Given the description of an element on the screen output the (x, y) to click on. 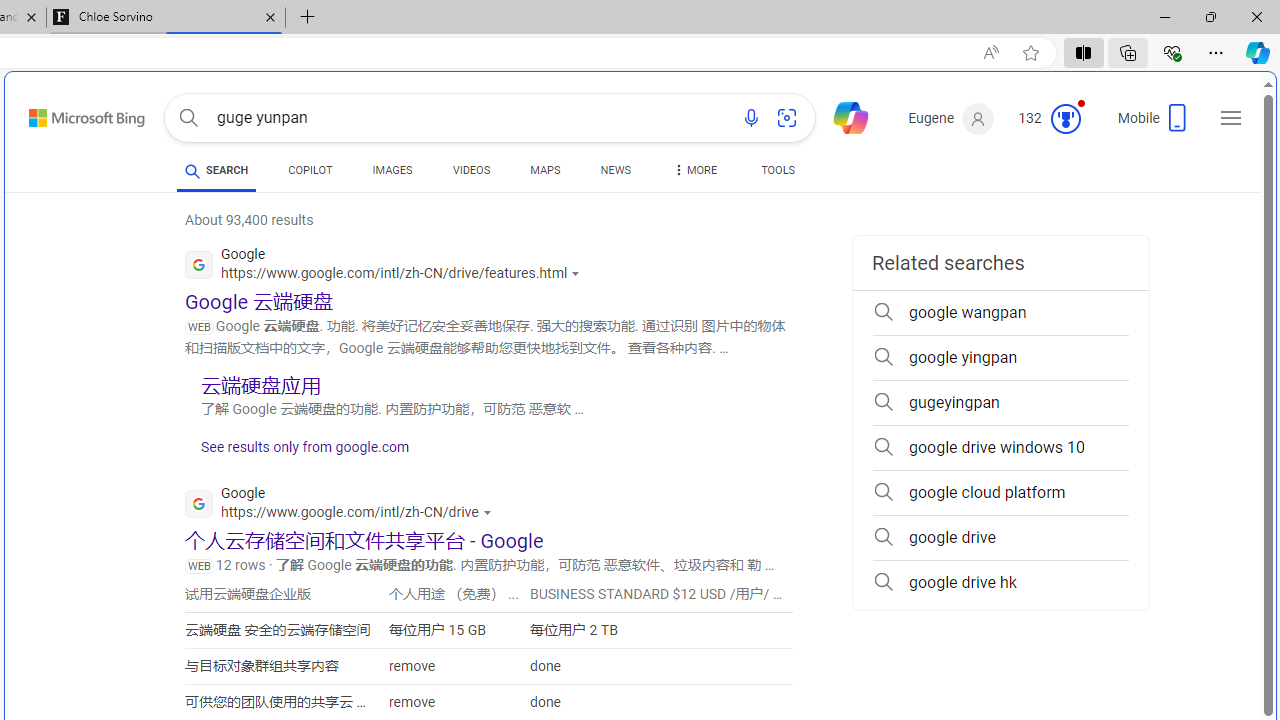
Chloe Sorvino (166, 17)
Minimize (1164, 16)
Settings and quick links (1231, 117)
Skip to content (65, 111)
VIDEOS (471, 173)
COPILOT (310, 170)
IMAGES (392, 173)
Close tab (270, 16)
Google (343, 506)
Read aloud this page (Ctrl+Shift+U) (991, 53)
Global web icon (198, 503)
google drive hk (1000, 582)
Browser essentials (1171, 52)
